Given the description of an element on the screen output the (x, y) to click on. 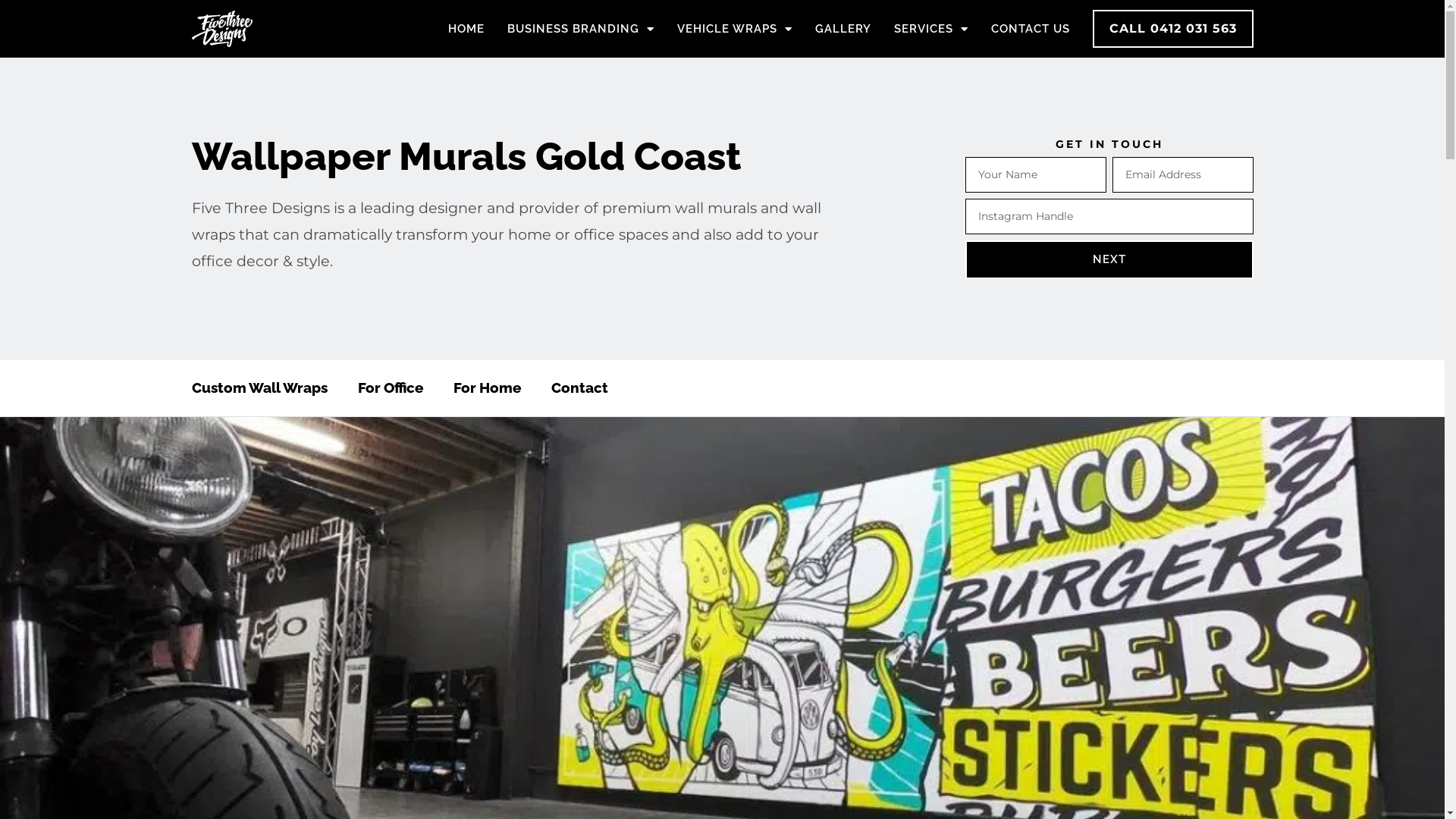
CONTACT US Element type: text (1029, 28)
Contact Element type: text (578, 387)
BUSINESS BRANDING Element type: text (579, 28)
GALLERY Element type: text (842, 28)
For Home Element type: text (486, 387)
Custom Wall Wraps Element type: text (258, 387)
Wall Wrap 14 - Wall Wraps - Five Three Designs 1 Element type: hover (722, 662)
NEXT Element type: text (1108, 259)
CALL 0412 031 563 Element type: text (1172, 28)
For Office Element type: text (390, 387)
SERVICES Element type: text (930, 28)
HOME Element type: text (465, 28)
VEHICLE WRAPS Element type: text (733, 28)
